Given the description of an element on the screen output the (x, y) to click on. 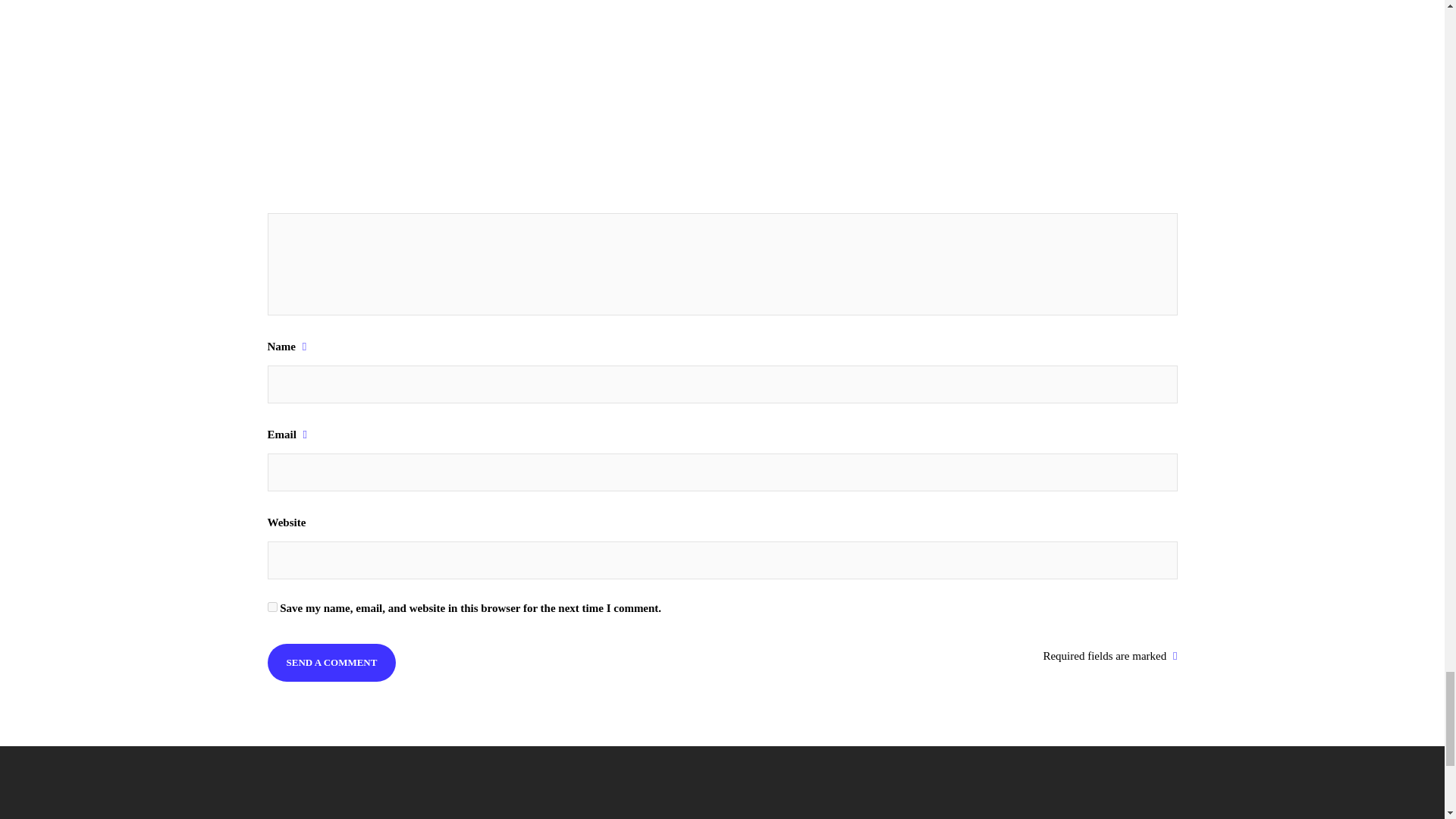
Send a comment (331, 661)
yes (271, 606)
Send a comment (331, 661)
